Given the description of an element on the screen output the (x, y) to click on. 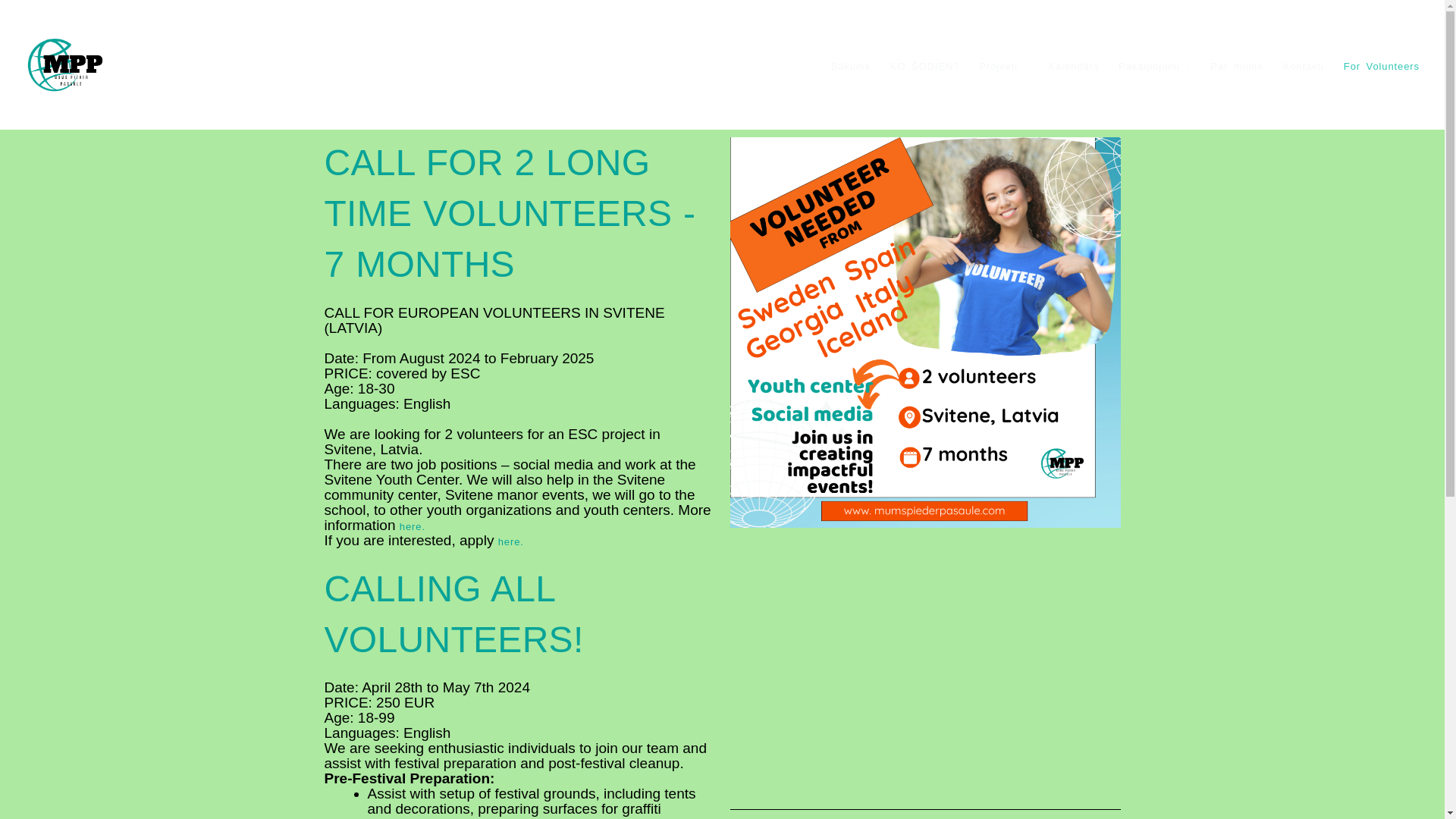
here. (510, 541)
here. (411, 526)
Par mums (1235, 66)
For Volunteers (1381, 66)
Kontakti (1302, 66)
Projekti (1003, 66)
Pakalpojumi (1153, 66)
